Given the description of an element on the screen output the (x, y) to click on. 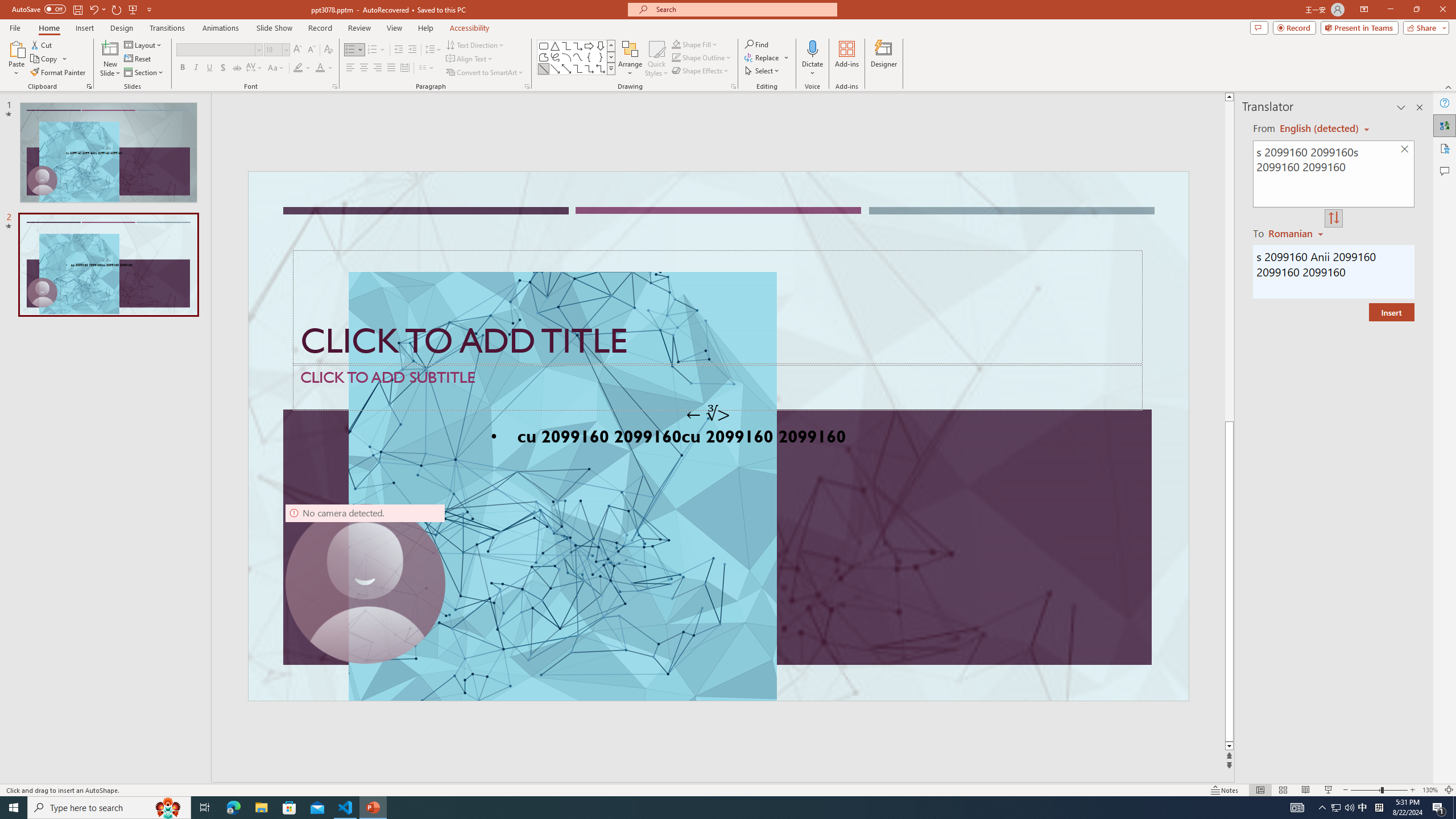
Camera 9, No camera detected. (364, 584)
